Given the description of an element on the screen output the (x, y) to click on. 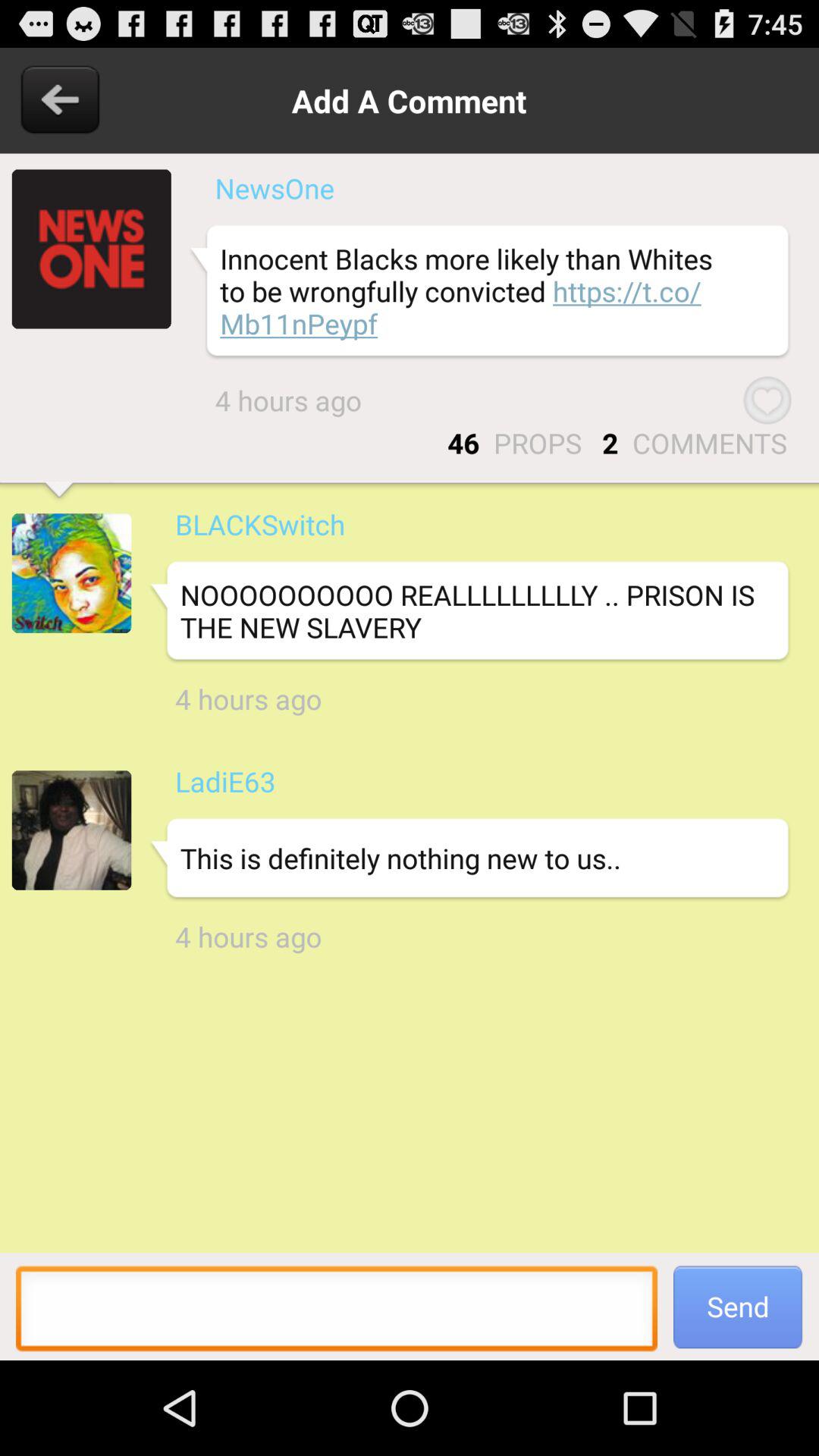
turn off this is definitely icon (469, 859)
